Given the description of an element on the screen output the (x, y) to click on. 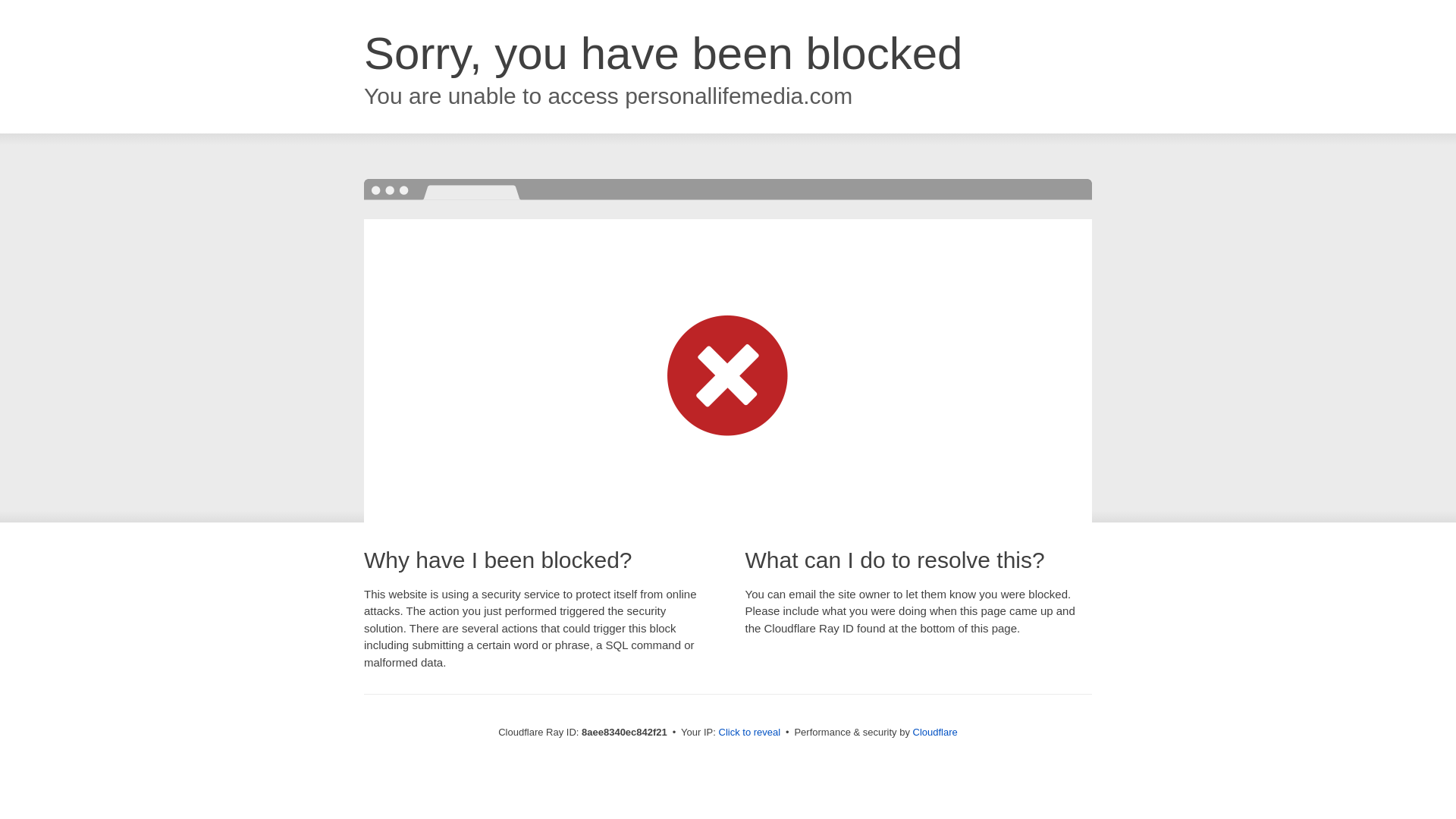
Cloudflare (935, 731)
Click to reveal (749, 732)
